Given the description of an element on the screen output the (x, y) to click on. 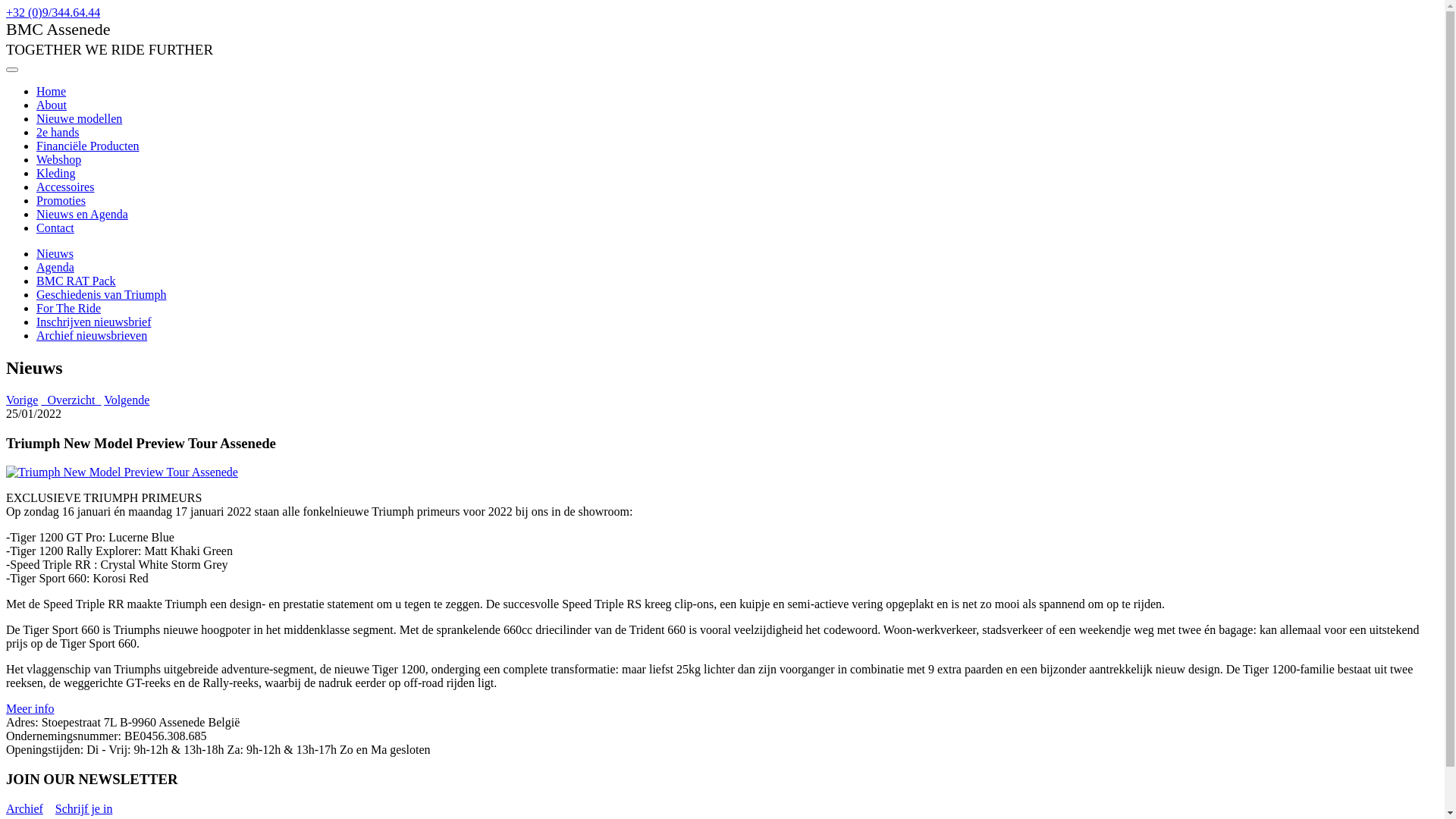
Accessoires Element type: text (65, 186)
About Element type: text (51, 104)
Archief Element type: text (24, 808)
For The Ride Element type: text (68, 307)
Contact Element type: text (55, 227)
Nieuws Element type: text (54, 253)
Nieuwe modellen Element type: text (79, 118)
2e hands Element type: text (57, 131)
Schrijf je in Element type: text (83, 808)
Inschrijven nieuwsbrief Element type: text (93, 321)
Promoties Element type: text (60, 200)
Home Element type: text (50, 90)
  Overzicht   Element type: text (70, 399)
Archief nieuwsbrieven Element type: text (91, 335)
Vorige Element type: text (21, 399)
Volgende Element type: text (126, 399)
Agenda Element type: text (55, 266)
BMC RAT Pack Element type: text (76, 280)
Geschiedenis van Triumph Element type: text (101, 294)
Webshop Element type: text (58, 159)
Kleding Element type: text (55, 172)
Triumph New Model Preview Tour Assenede Element type: hover (122, 472)
Meer info Element type: text (30, 708)
+32 (0)9/344.64.44 Element type: text (53, 12)
Nieuws en Agenda Element type: text (82, 213)
